Given the description of an element on the screen output the (x, y) to click on. 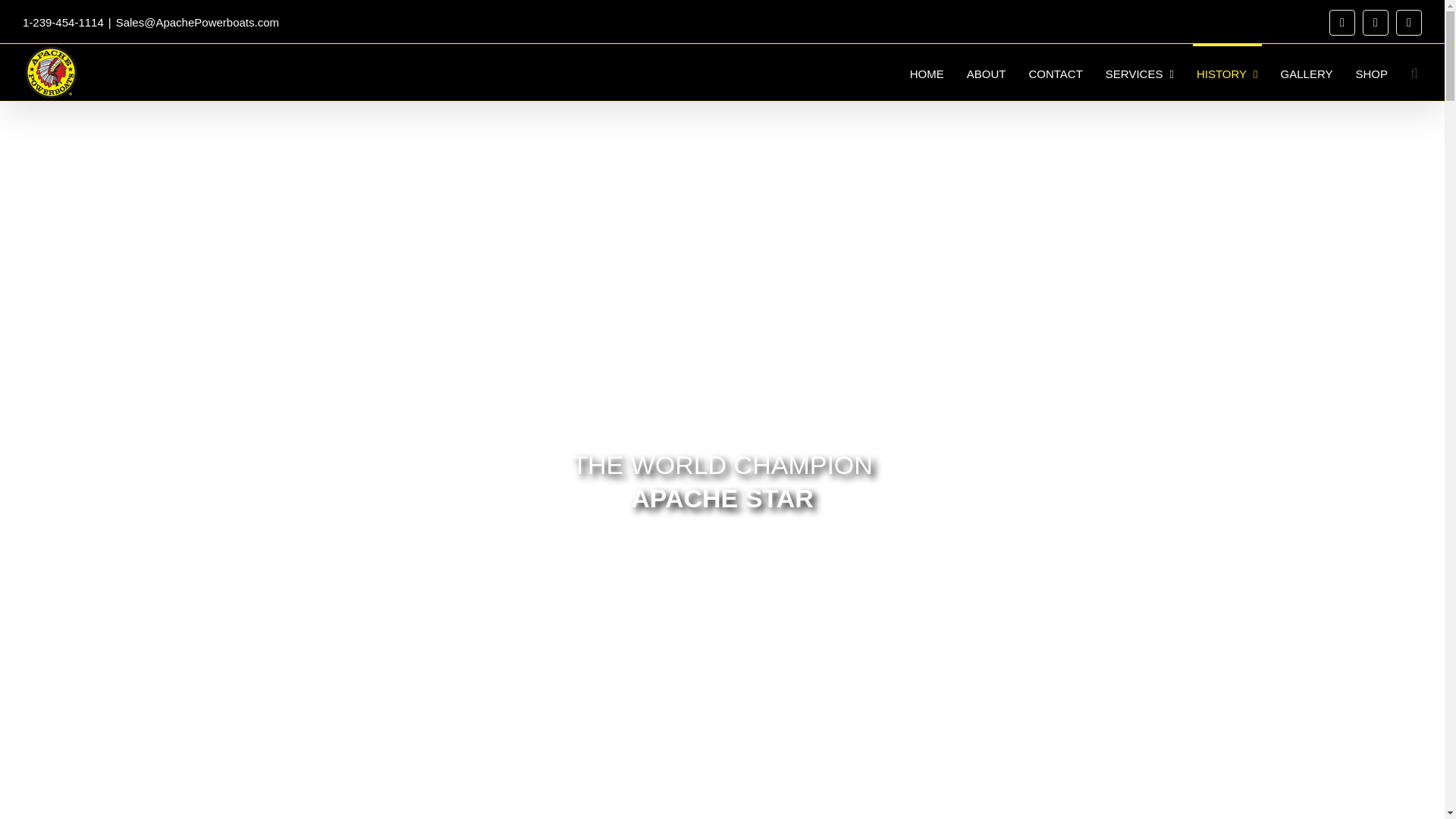
Facebook (1342, 22)
HISTORY (1227, 72)
Instagram (1375, 22)
CONTACT (1055, 72)
Instagram (1375, 22)
1-239-454-1114 (63, 21)
YouTube (1409, 22)
YouTube (1409, 22)
